Given the description of an element on the screen output the (x, y) to click on. 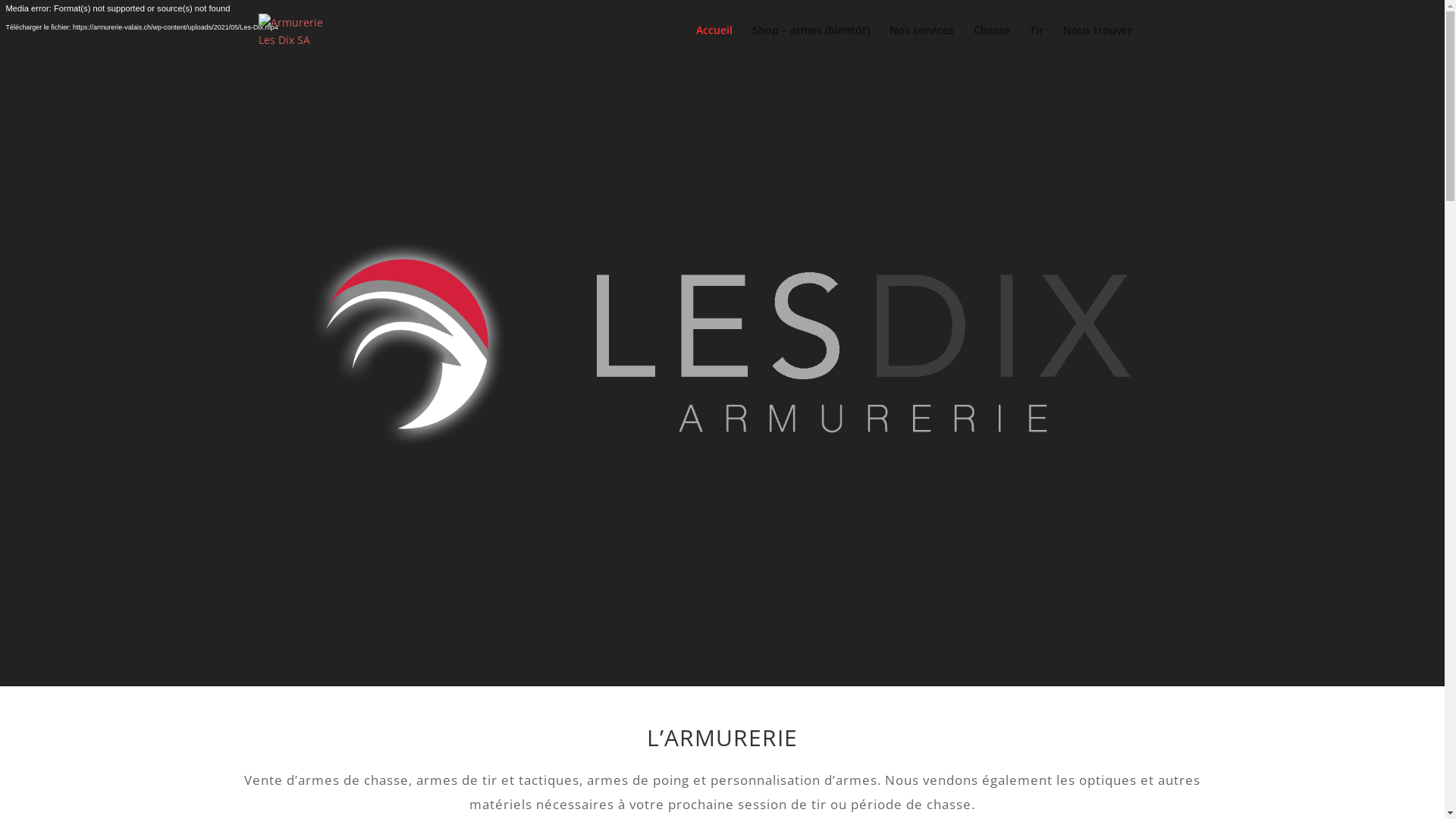
logo_ Element type: hover (722, 343)
Tir Element type: text (1036, 42)
Nos services Element type: text (920, 42)
Nous trouver Element type: text (1097, 42)
Chasse Element type: text (991, 42)
Accueil Element type: text (714, 42)
